Given the description of an element on the screen output the (x, y) to click on. 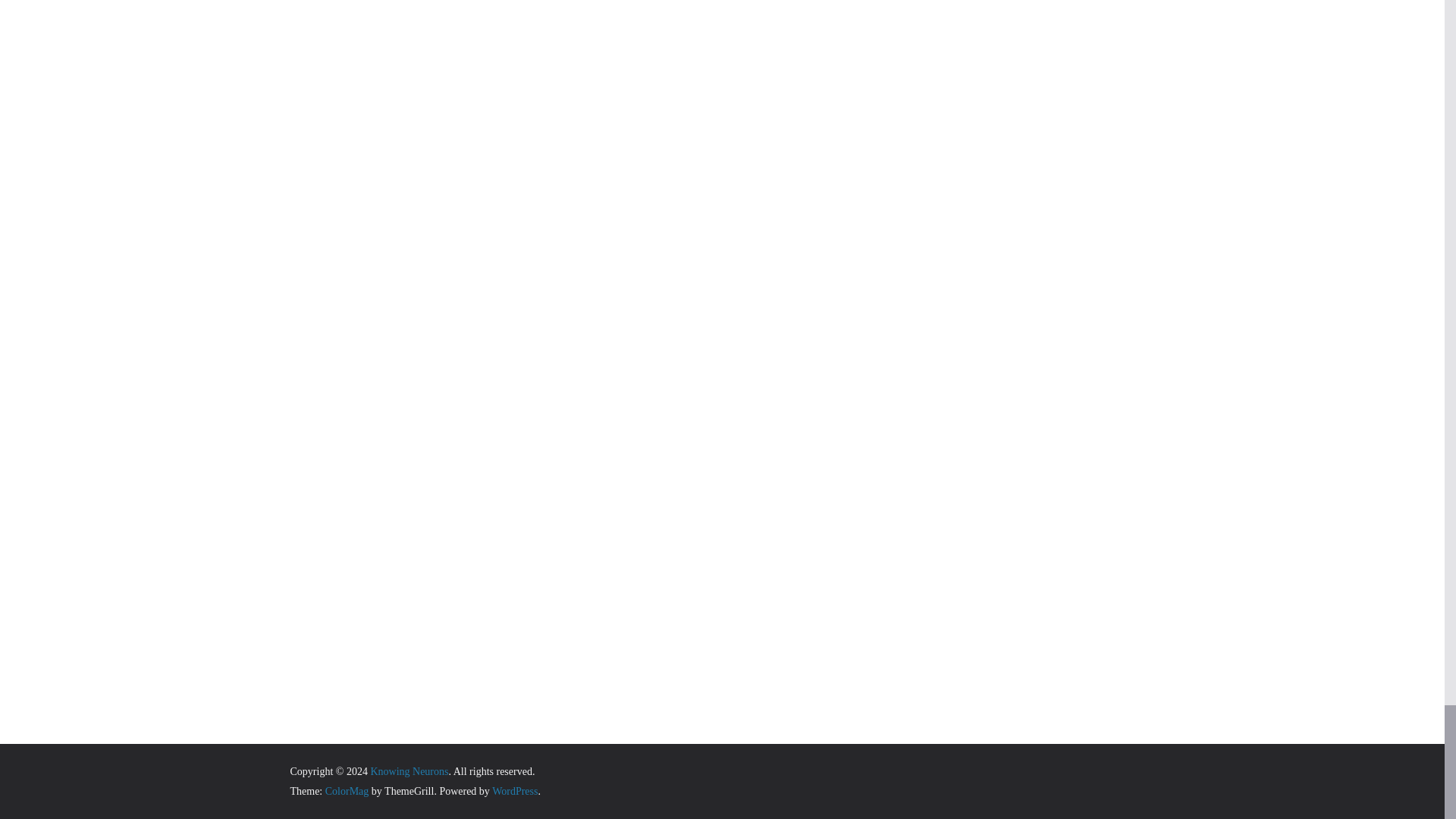
WordPress (514, 790)
ColorMag (346, 790)
Knowing Neurons (408, 771)
